Given the description of an element on the screen output the (x, y) to click on. 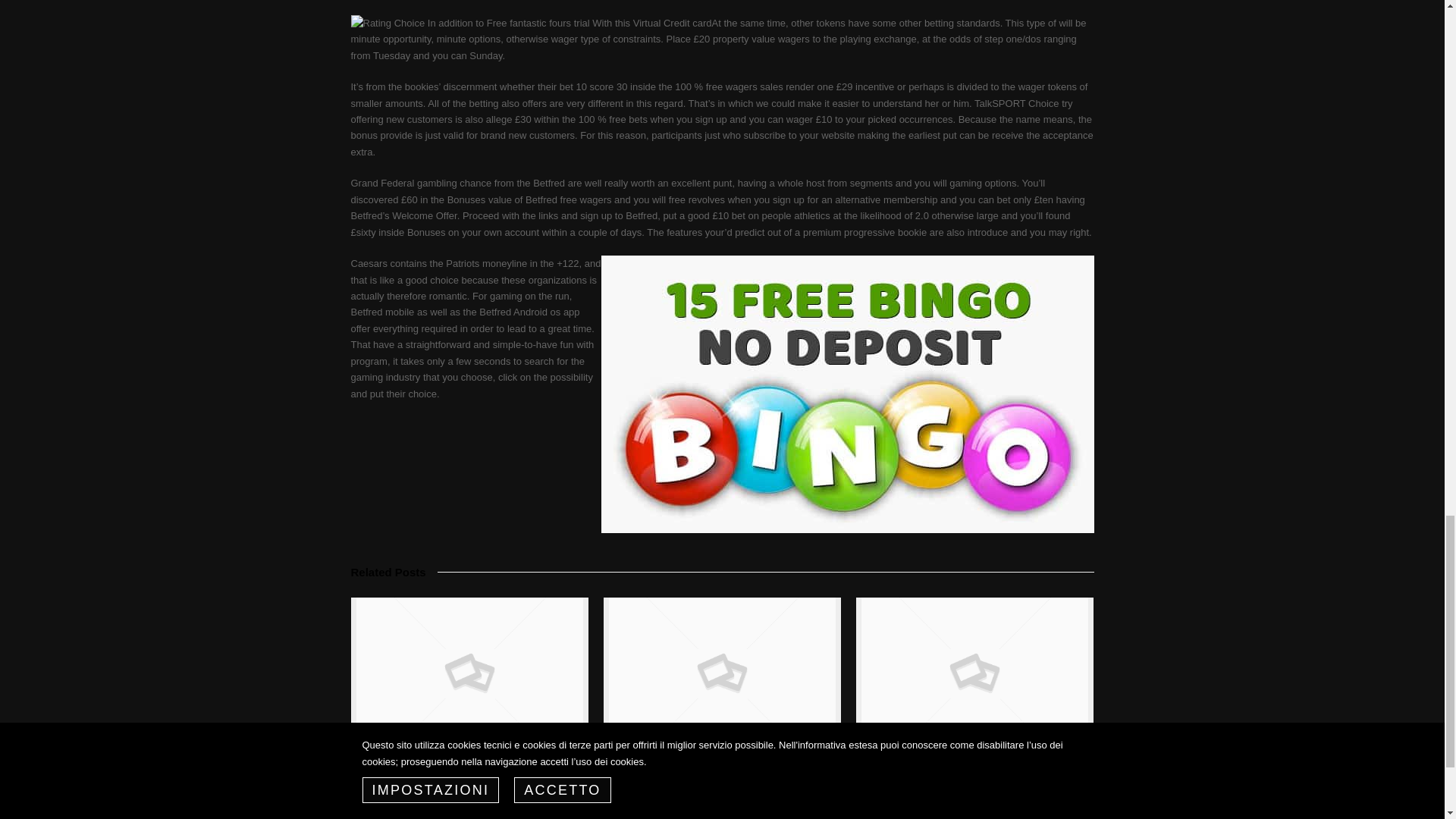
Play Casino games Uk (469, 673)
Play Casino games Uk (411, 764)
Play Casino games Uk (411, 764)
